Given the description of an element on the screen output the (x, y) to click on. 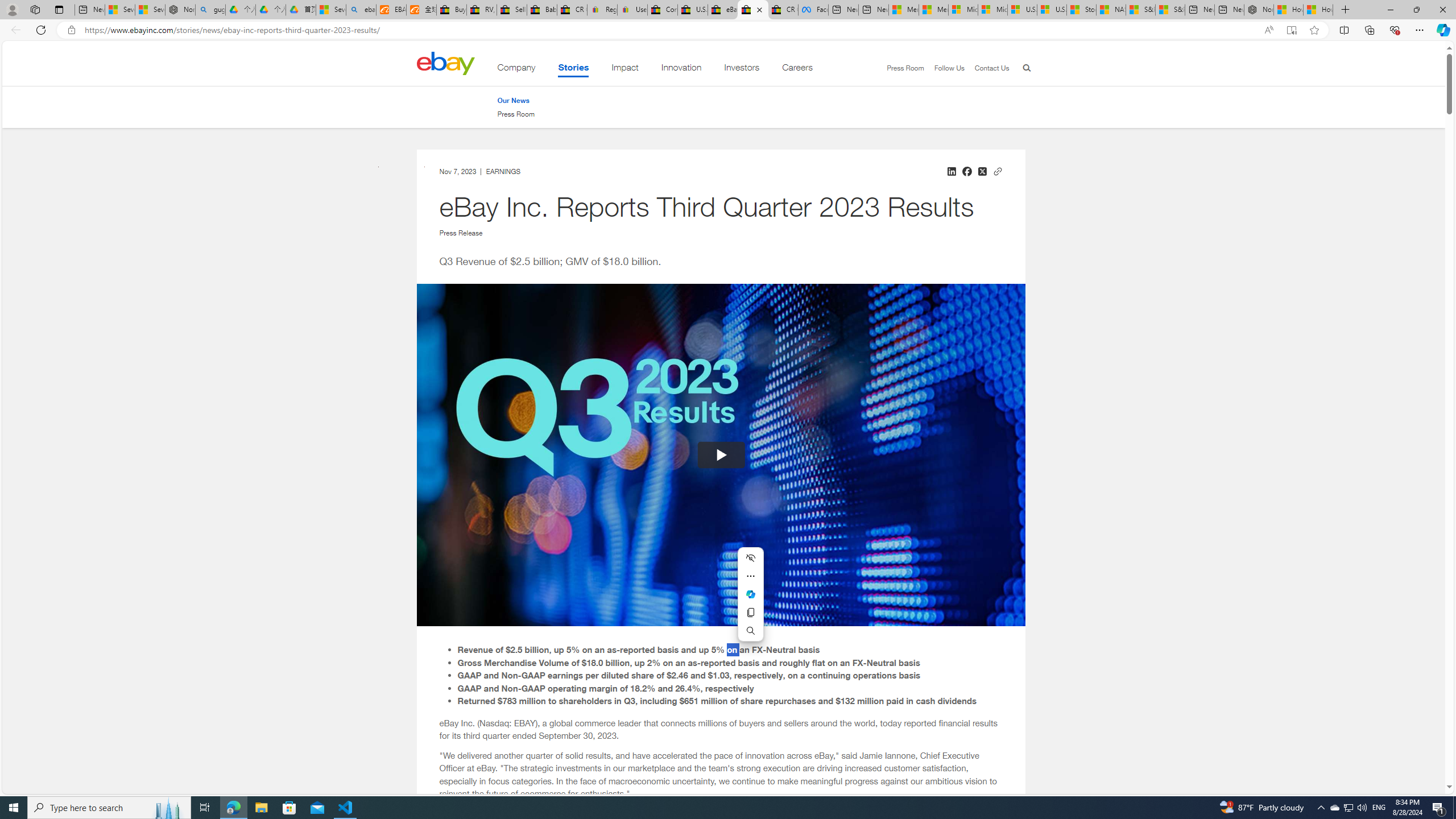
Innovation (681, 69)
Ask Copilot (750, 594)
Facebook (812, 9)
Innovation (681, 69)
Stories . This is the current section. (573, 69)
U.S. State Privacy Disclosures - eBay Inc. (691, 9)
